Given the description of an element on the screen output the (x, y) to click on. 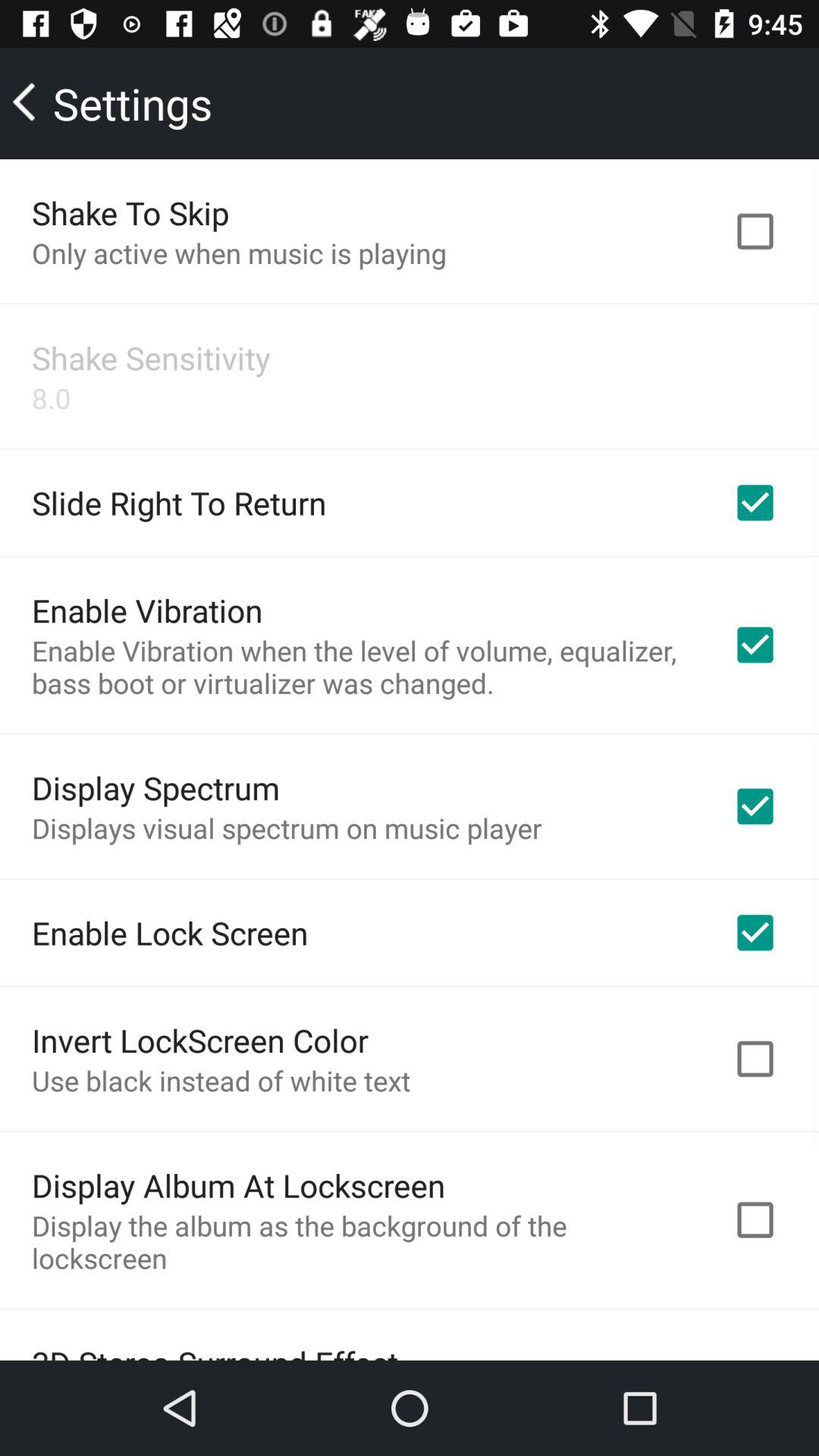
open icon below enable vibration when icon (155, 787)
